Given the description of an element on the screen output the (x, y) to click on. 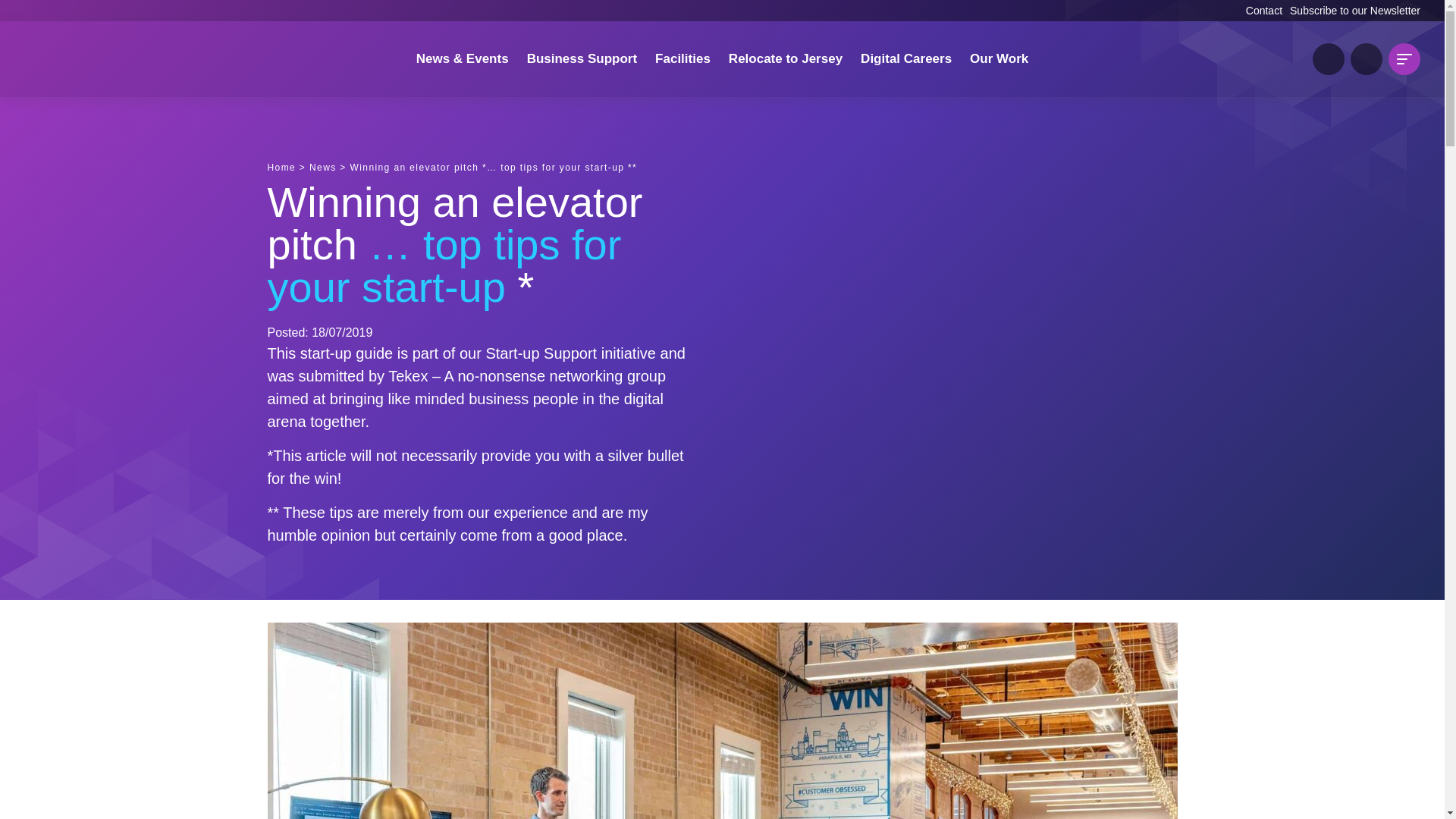
Relocate to Jersey (785, 59)
Business Support (582, 59)
Contact (1264, 10)
Subscribe to our Newsletter (1355, 10)
Facilities (682, 59)
